Given the description of an element on the screen output the (x, y) to click on. 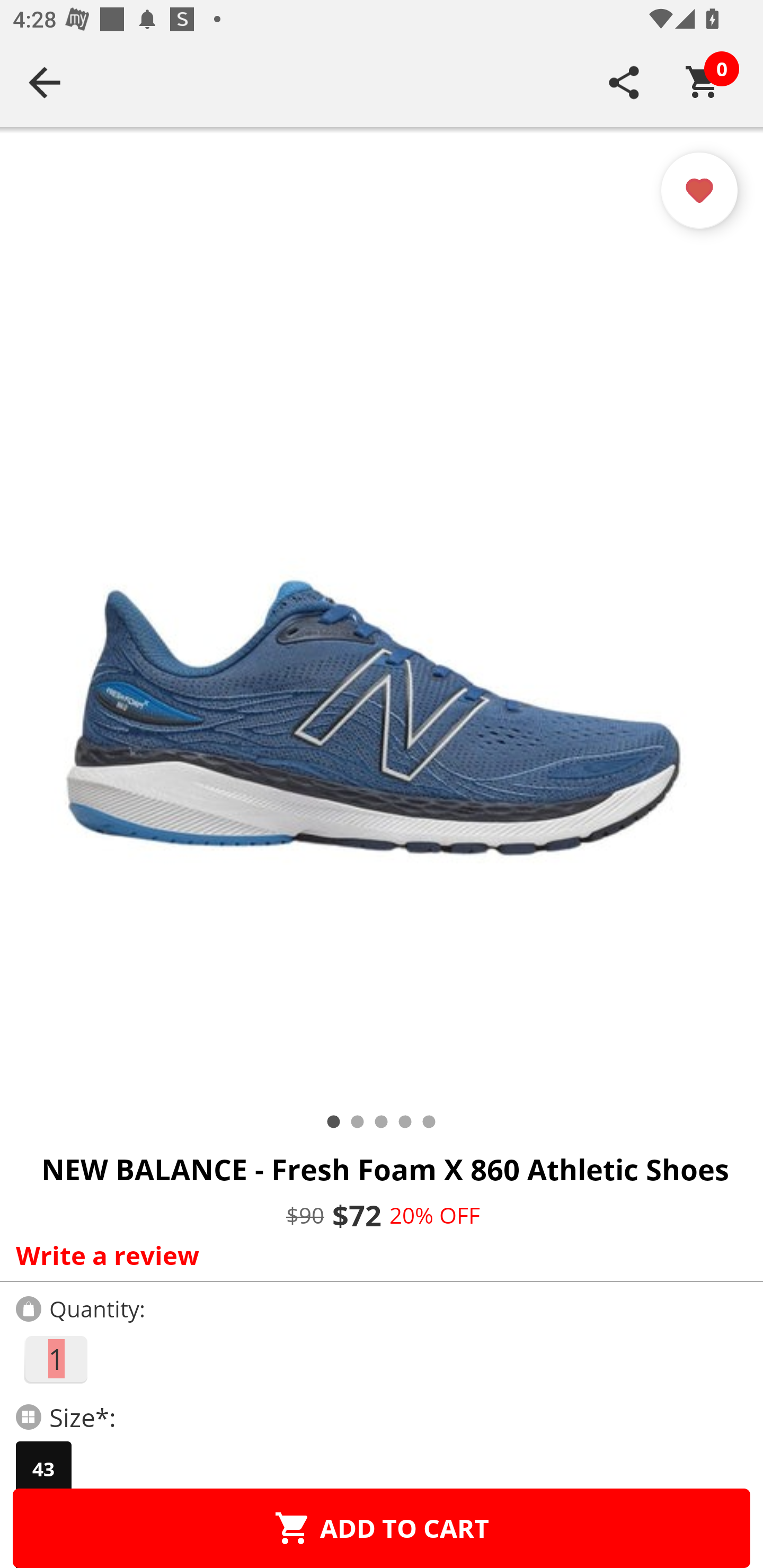
Navigate up (44, 82)
SHARE (623, 82)
Cart (703, 81)
Write a review (377, 1255)
1 (55, 1358)
43 (43, 1468)
ADD TO CART (381, 1528)
